Given the description of an element on the screen output the (x, y) to click on. 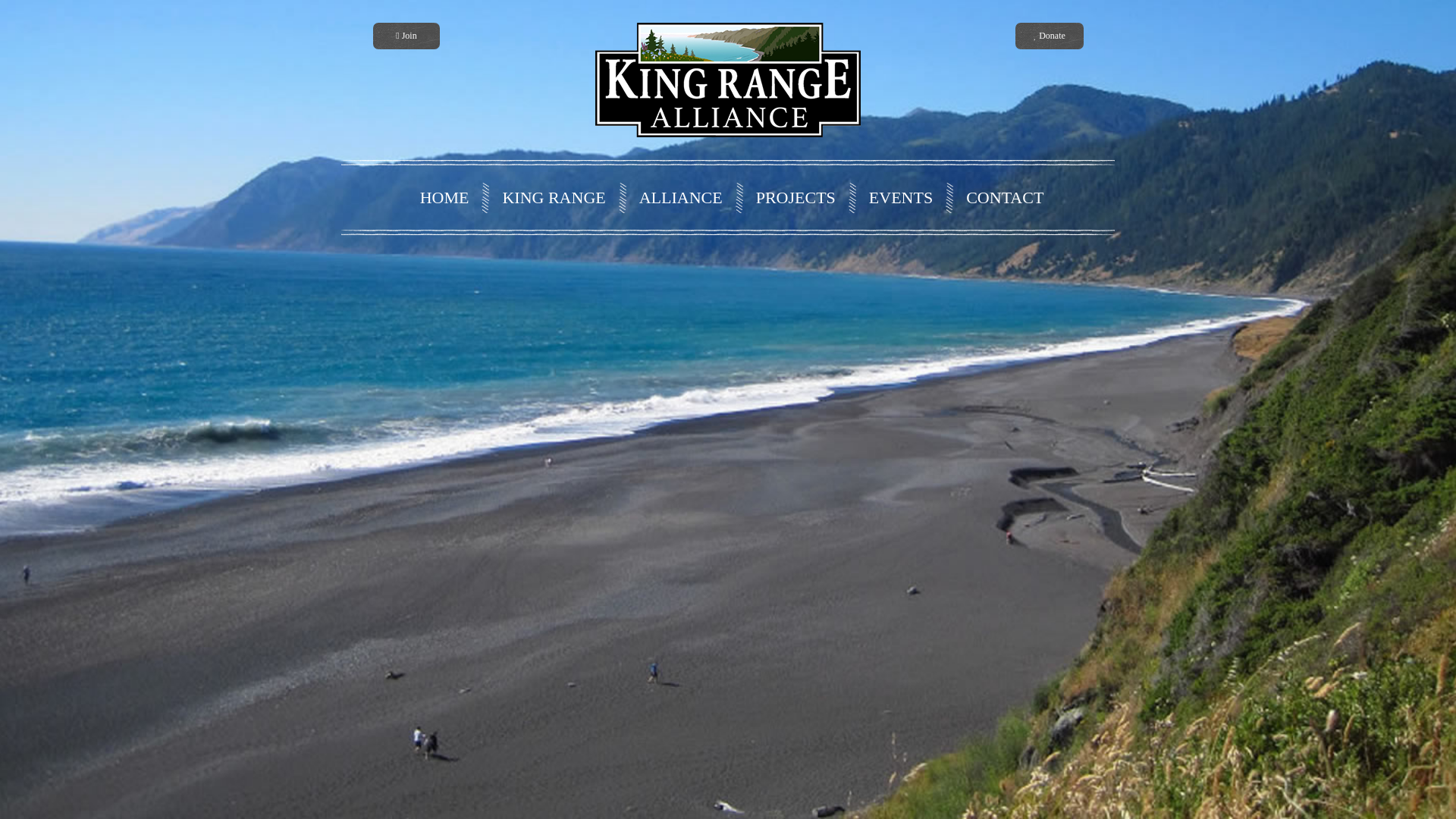
KING RANGE (549, 197)
CONTACT (1000, 197)
EVENTS (896, 197)
Donate (1048, 35)
ALLIANCE (676, 197)
Join (405, 35)
PROJECTS (791, 197)
HOME (439, 197)
